Given the description of an element on the screen output the (x, y) to click on. 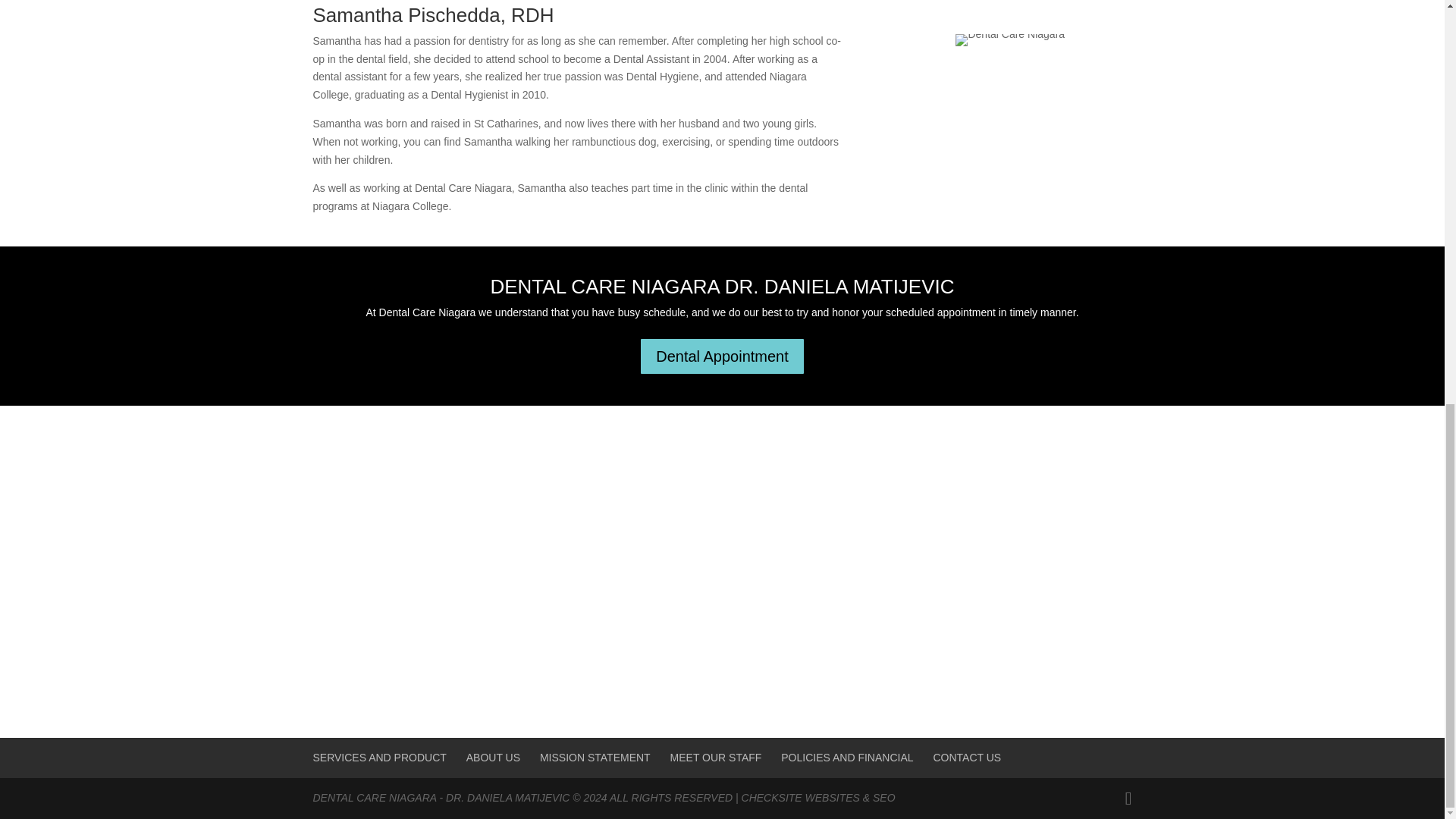
CONTACT US (967, 757)
MEET OUR STAFF (715, 757)
SERVICES AND PRODUCT (379, 757)
POLICIES AND FINANCIAL (846, 757)
MISSION STATEMENT (595, 757)
Dental Appointment (722, 356)
ABOUT US (492, 757)
